Given the description of an element on the screen output the (x, y) to click on. 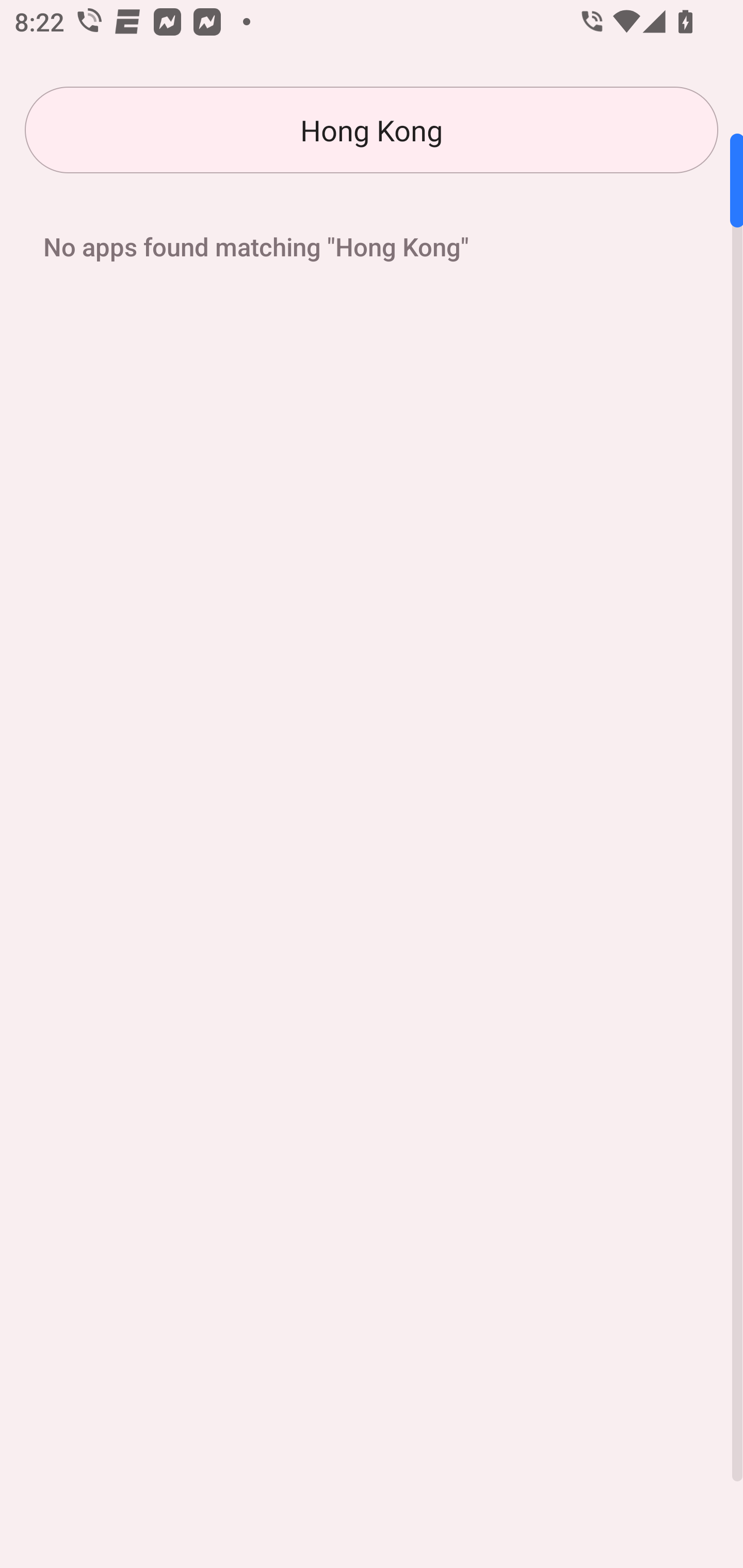
Hong Kong (371, 130)
